Given the description of an element on the screen output the (x, y) to click on. 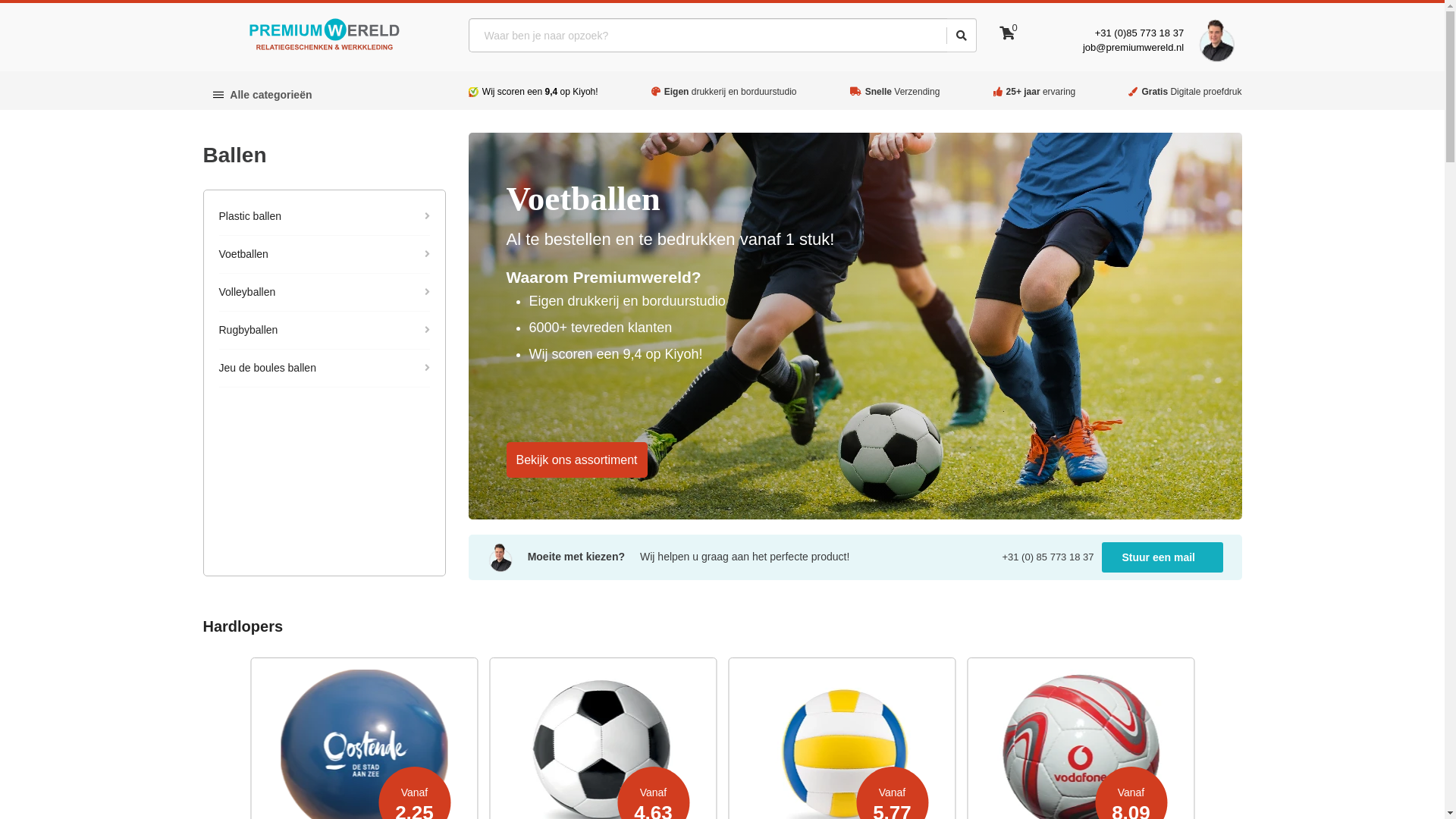
Bekijk ons assortiment Element type: text (576, 459)
Jeu de boules ballen Element type: text (323, 367)
Wij scoren een 9,4 op Kiyoh! Element type: text (540, 91)
+31 (0)85 773 18 37 Element type: text (1139, 32)
Voetballen Element type: text (323, 254)
Plastic ballen Element type: text (323, 216)
Rugbyballen Element type: text (323, 329)
job@premiumwereld.nl Element type: text (1132, 47)
+31 (0) 85 773 18 37 Element type: text (1051, 557)
divider Element type: hover (946, 35)
Stuur een mail Element type: text (1161, 557)
Volleyballen Element type: text (323, 291)
